Given the description of an element on the screen output the (x, y) to click on. 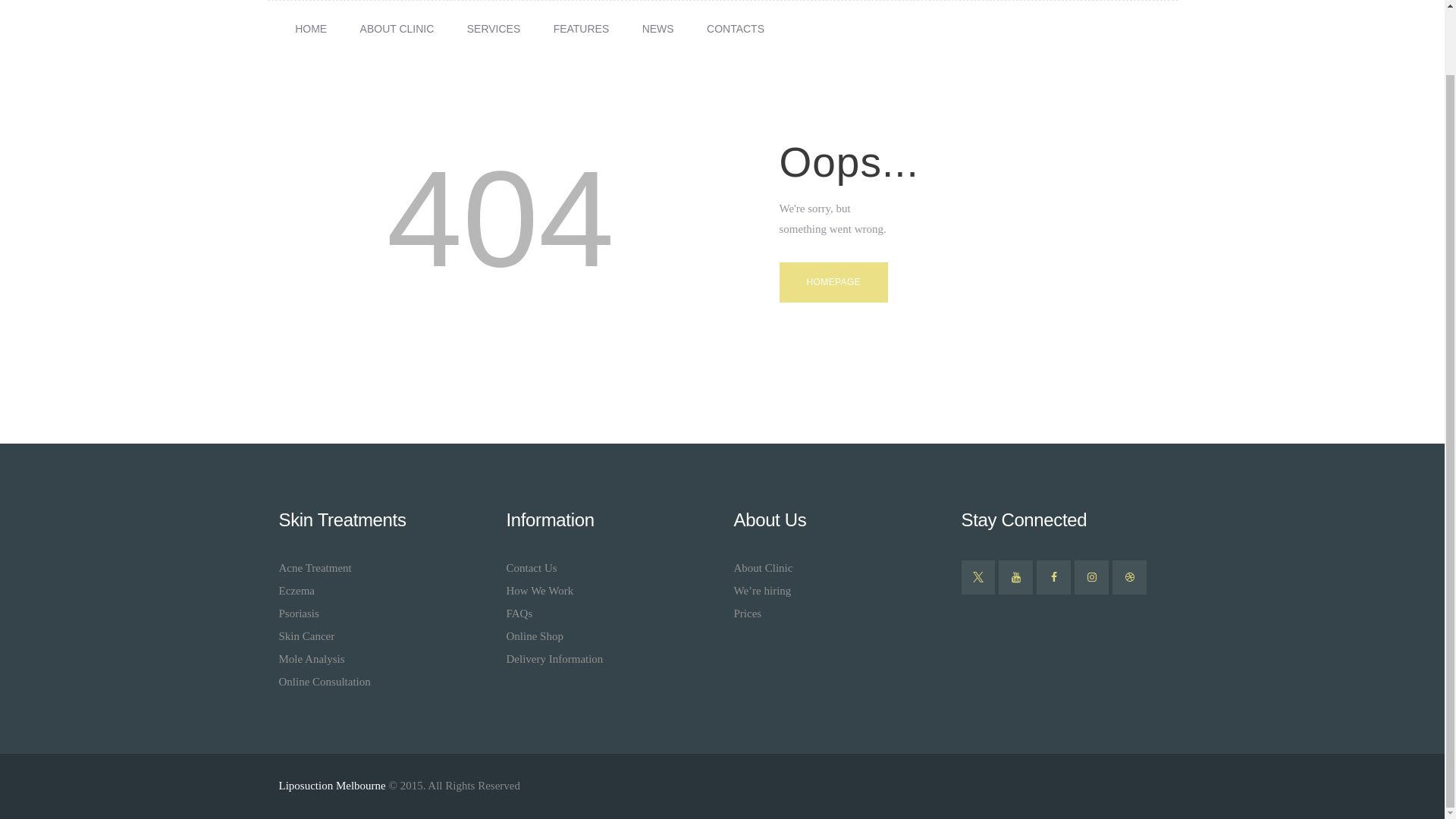
NEWS (658, 28)
ABOUT CLINIC (396, 28)
HOME (311, 28)
SERVICES (493, 28)
FEATURES (581, 28)
